Given the description of an element on the screen output the (x, y) to click on. 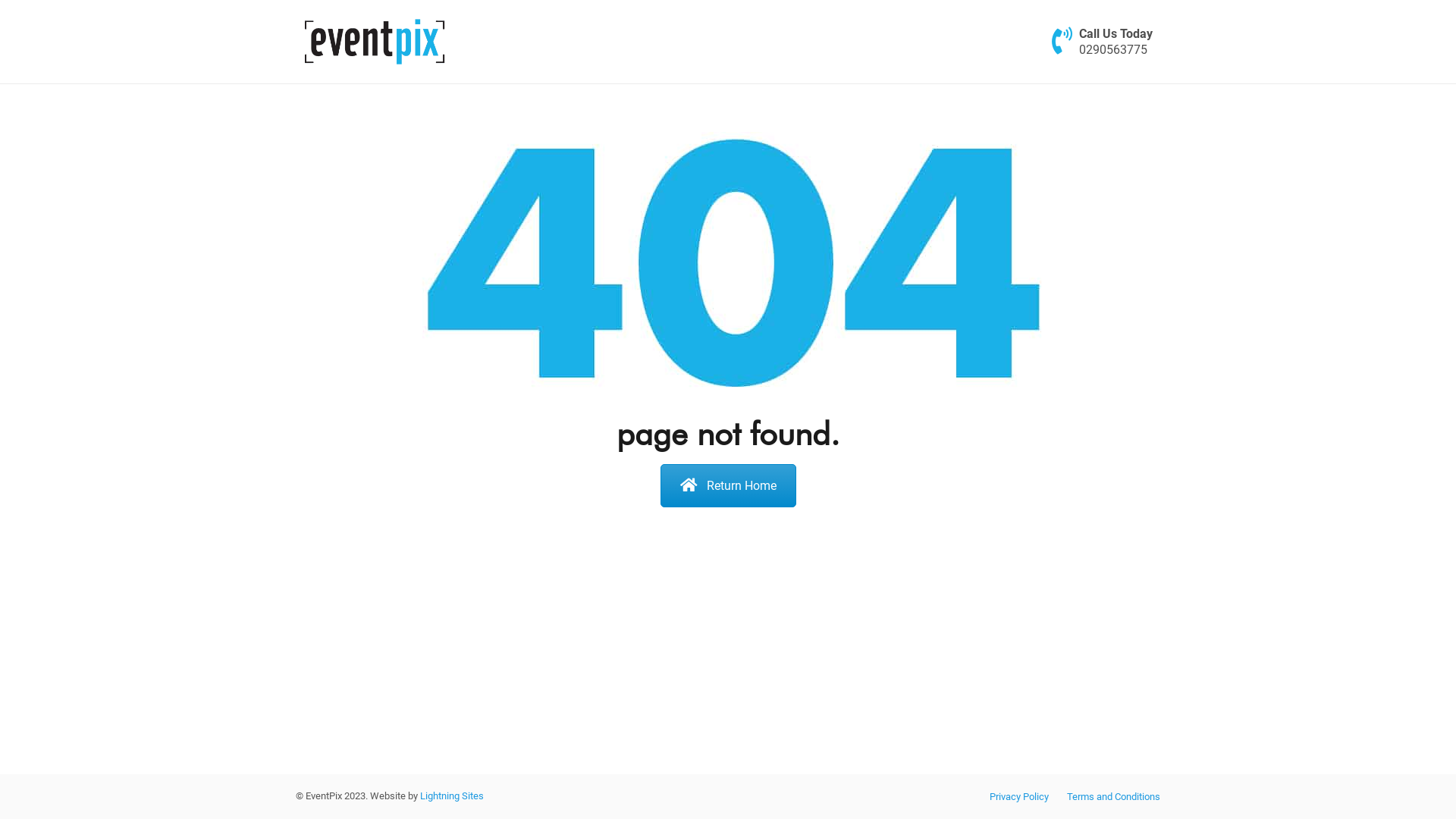
0290563775 Element type: text (1113, 49)
Lightning Sites Element type: text (451, 795)
Terms and Conditions Element type: text (1113, 796)
Return Home Element type: text (727, 485)
Privacy Policy Element type: text (1018, 796)
